Given the description of an element on the screen output the (x, y) to click on. 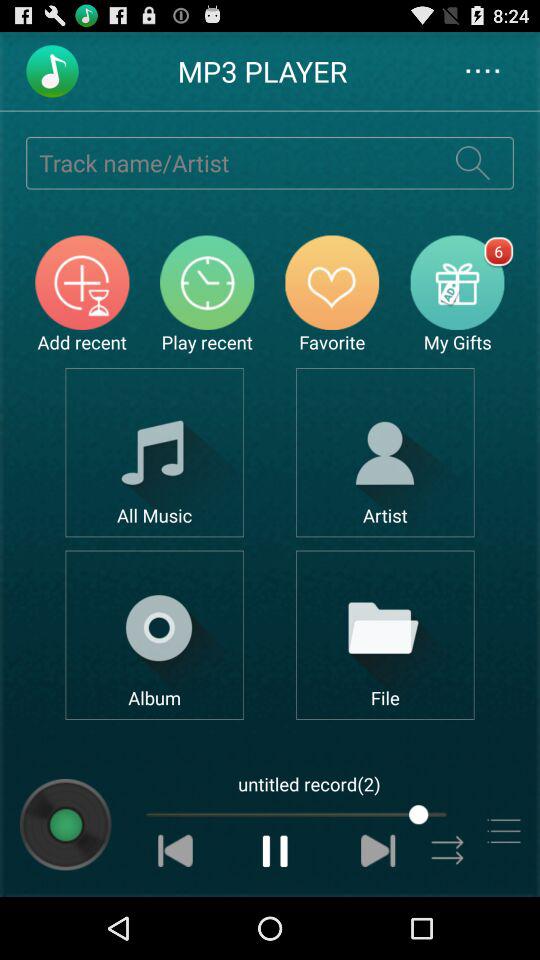
play next (378, 850)
